Given the description of an element on the screen output the (x, y) to click on. 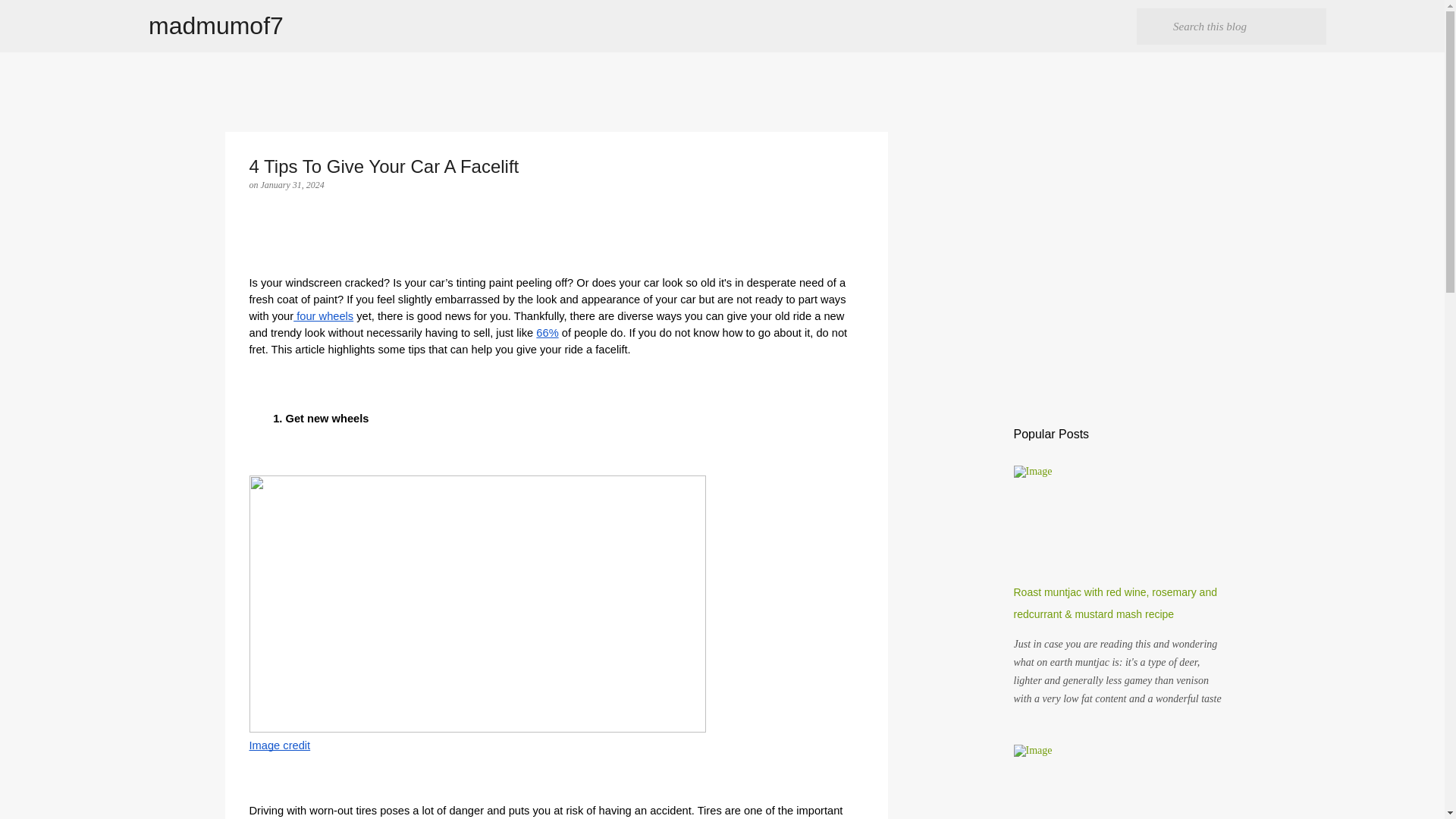
permanent link (292, 184)
 four wheels (323, 315)
Image credit (279, 744)
madmumof7 (215, 25)
January 31, 2024 (292, 184)
